Given the description of an element on the screen output the (x, y) to click on. 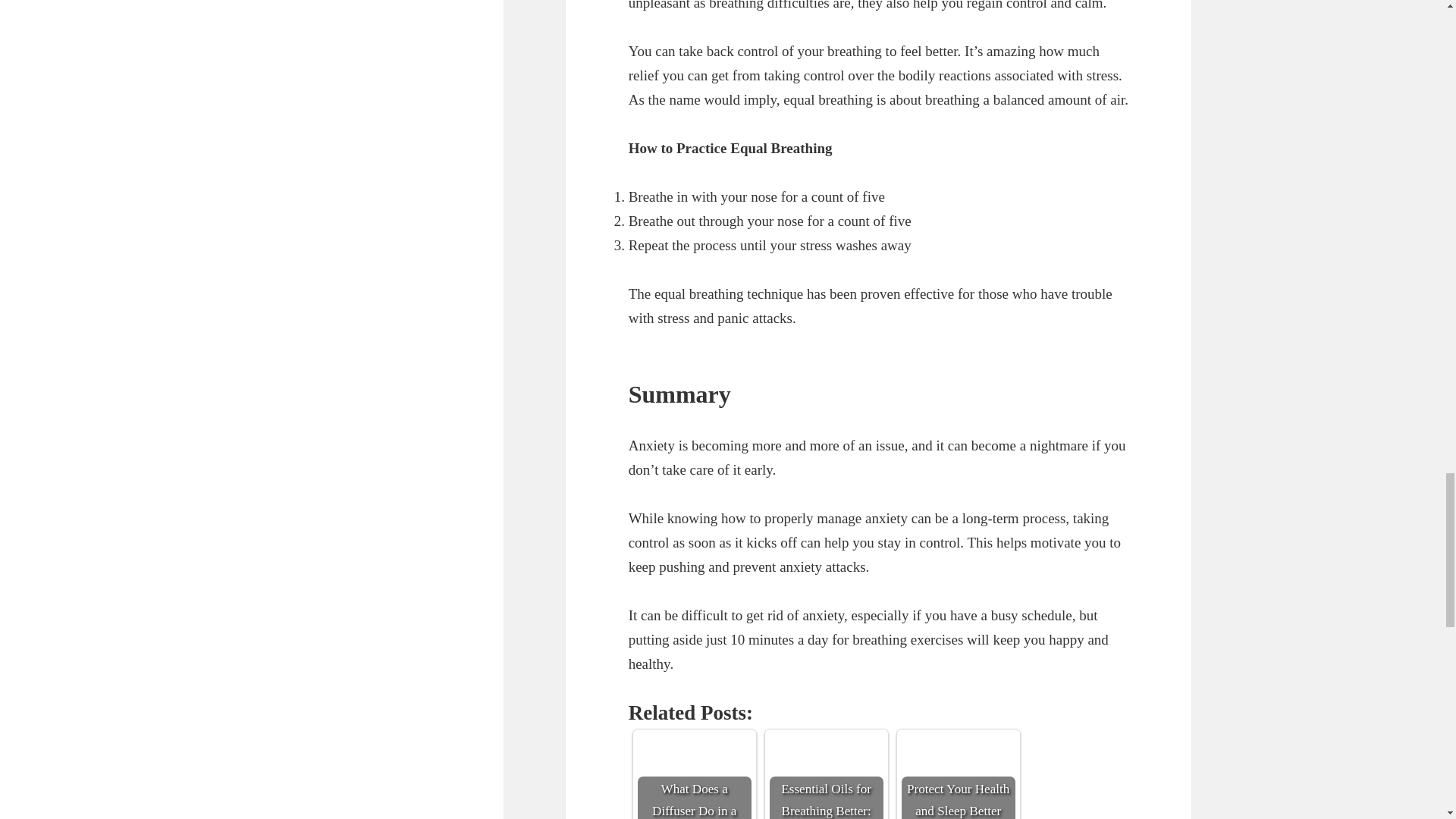
What Does a Diffuser Do in a Room? (694, 776)
Protect Your Health and Sleep Better with a Humidifier (957, 776)
